Given the description of an element on the screen output the (x, y) to click on. 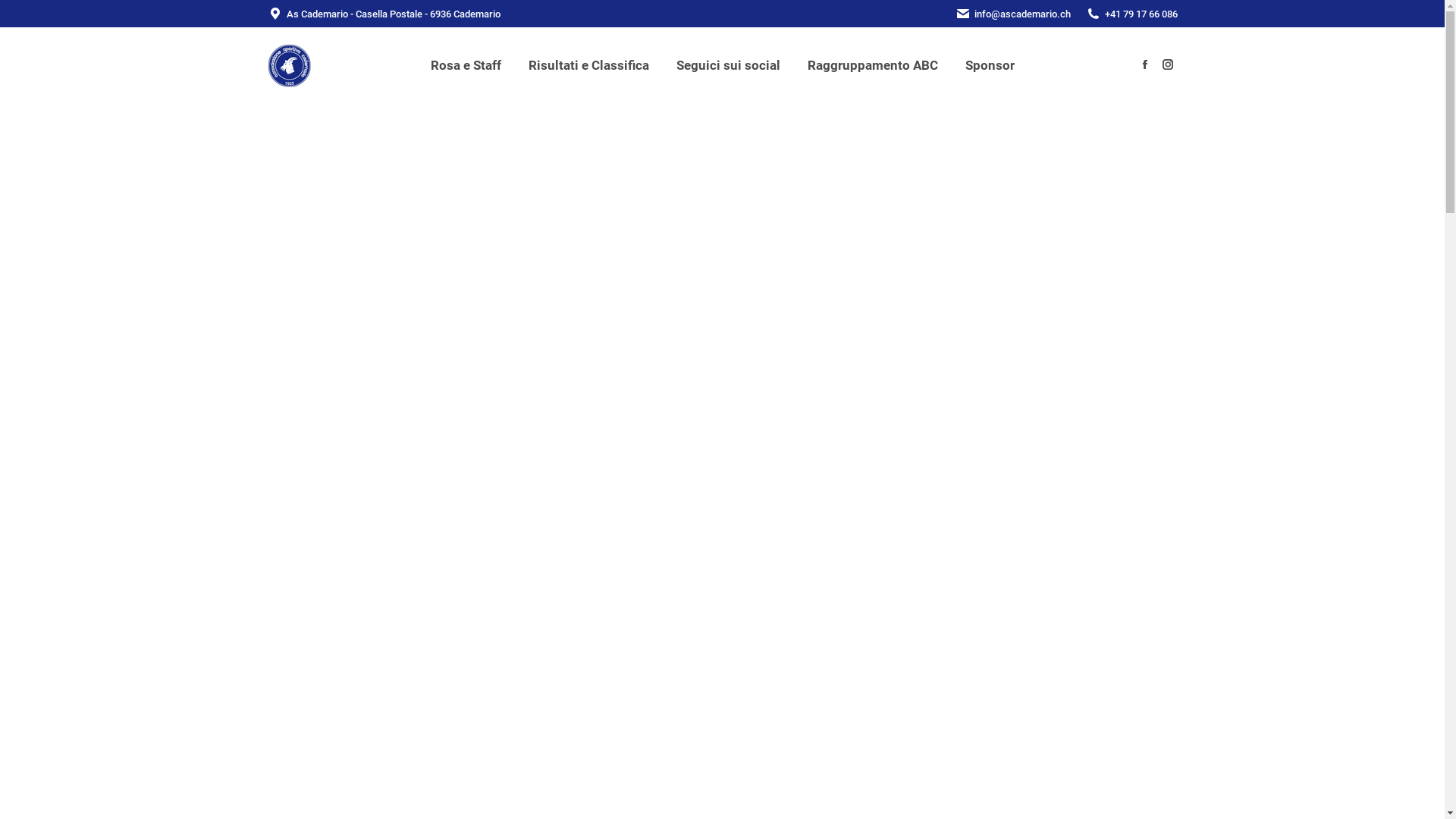
Sponsor Element type: text (989, 64)
Seguici sui social Element type: text (728, 64)
Instagram page opens in new window Element type: text (1166, 64)
Rosa e Staff Element type: text (465, 64)
Facebook page opens in new window Element type: text (1144, 64)
Risultati e Classifica Element type: text (588, 64)
Raggruppamento ABC Element type: text (872, 64)
info@ascademario.ch Element type: text (1021, 13)
